Given the description of an element on the screen output the (x, y) to click on. 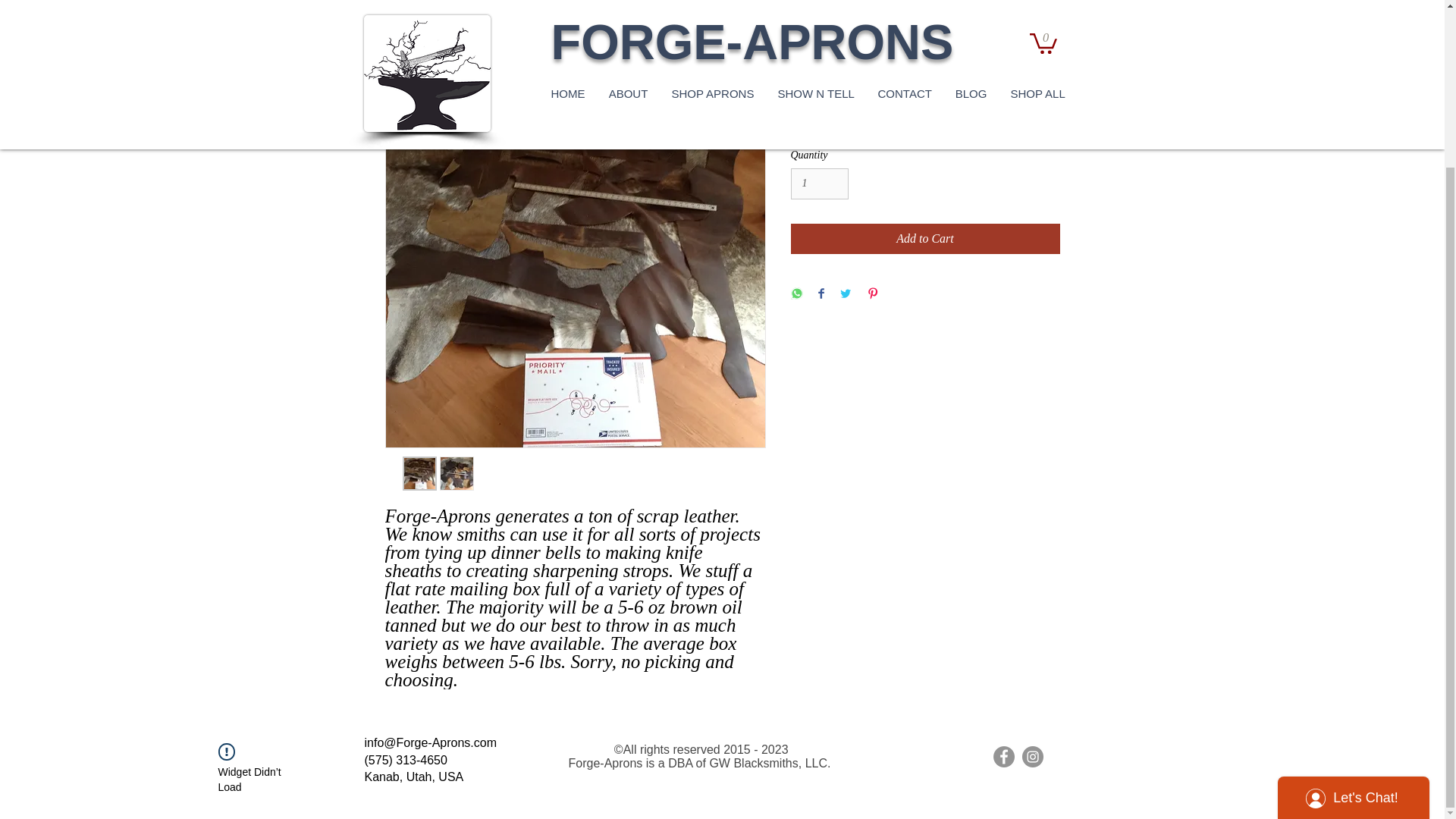
Add to Cart (924, 238)
Home (407, 9)
1 (818, 183)
Med. Flat Rate Box crammed full of Scrap Leather (638, 9)
